Given the description of an element on the screen output the (x, y) to click on. 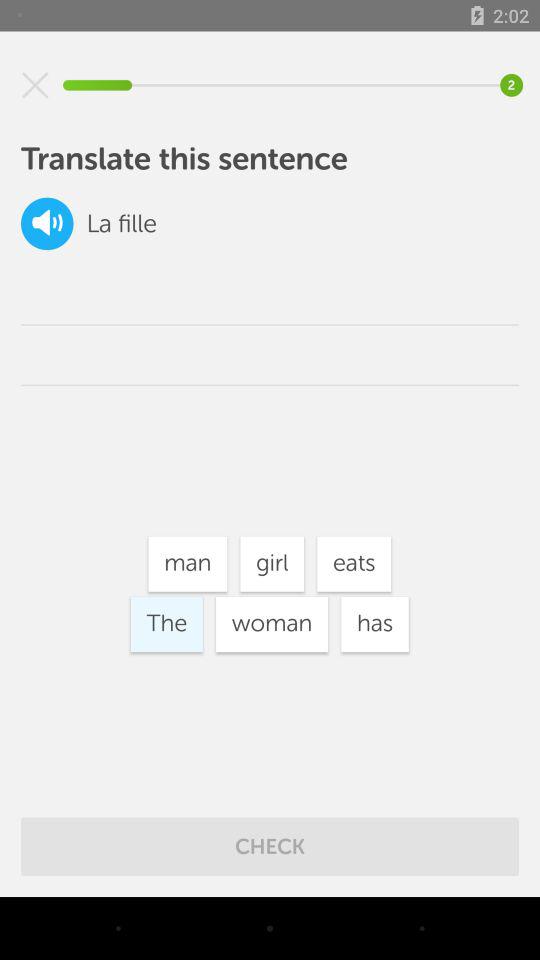
tap the icon on the left (166, 624)
